Given the description of an element on the screen output the (x, y) to click on. 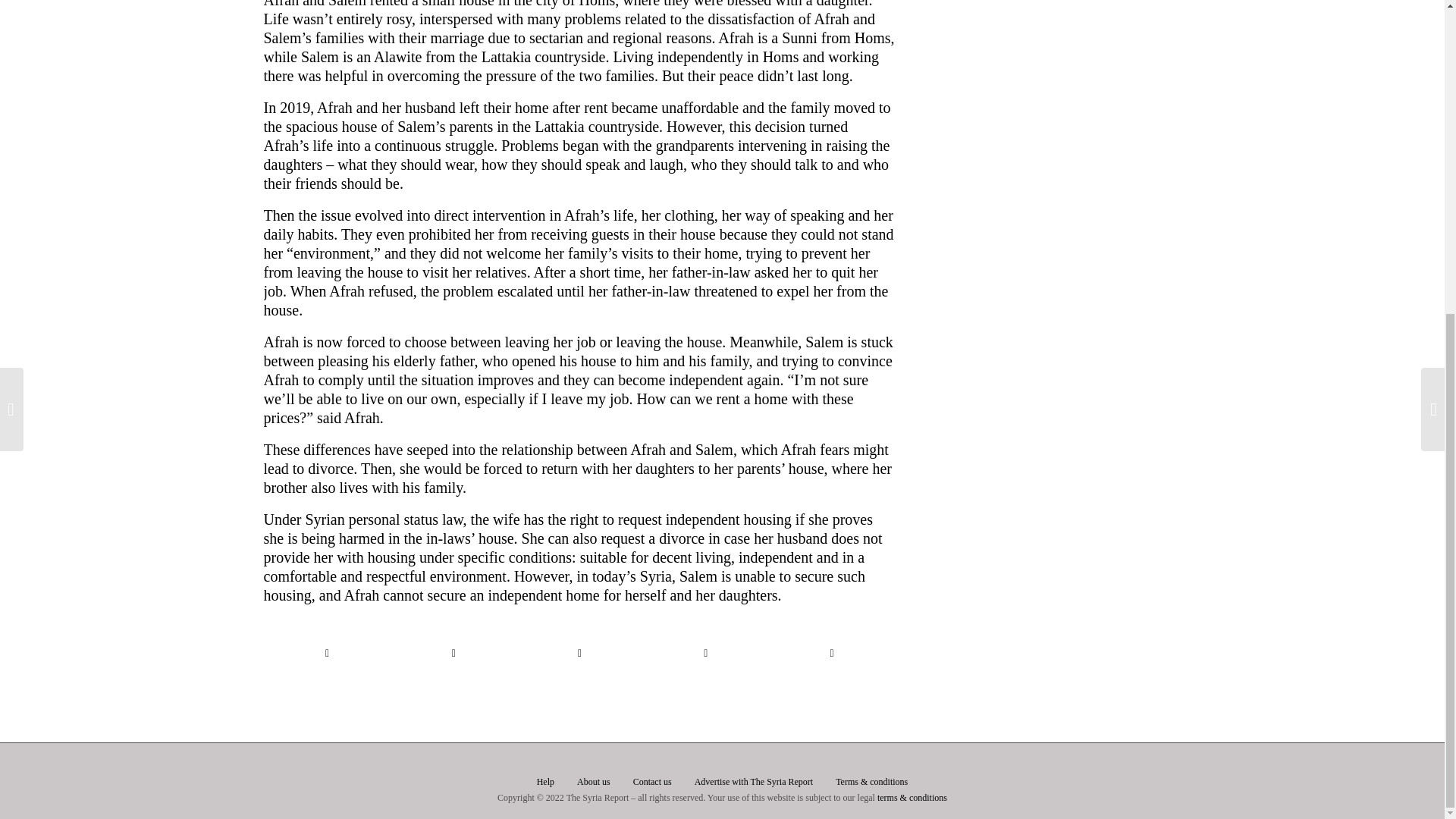
About us (593, 781)
Advertise with The Syria Report (753, 781)
Contact us (651, 781)
Help (545, 781)
